Given the description of an element on the screen output the (x, y) to click on. 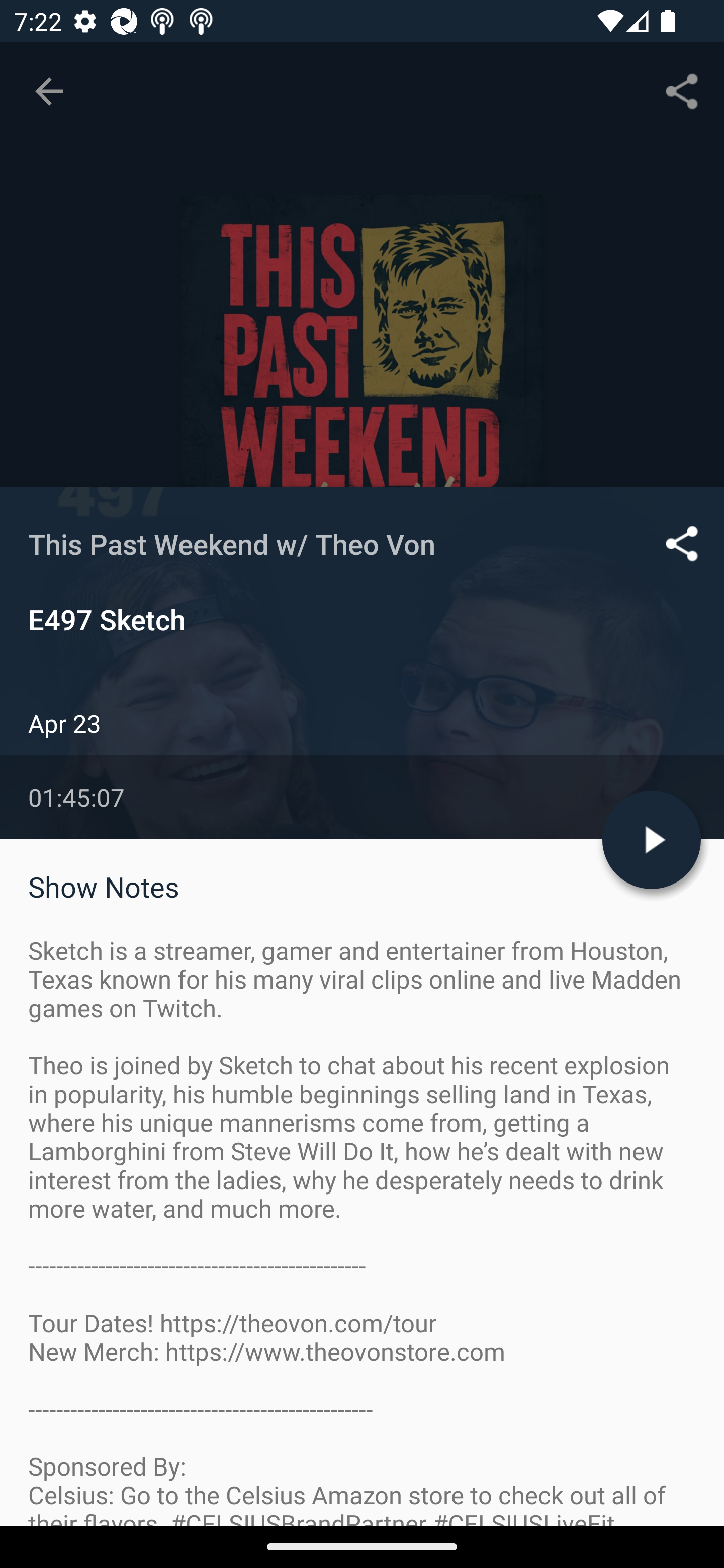
Apr 23 E497 Sketch (362, 867)
Apr 18 E496 A Carny (362, 985)
Apr 4 E493 Maddox Batson (362, 1340)
